Given the description of an element on the screen output the (x, y) to click on. 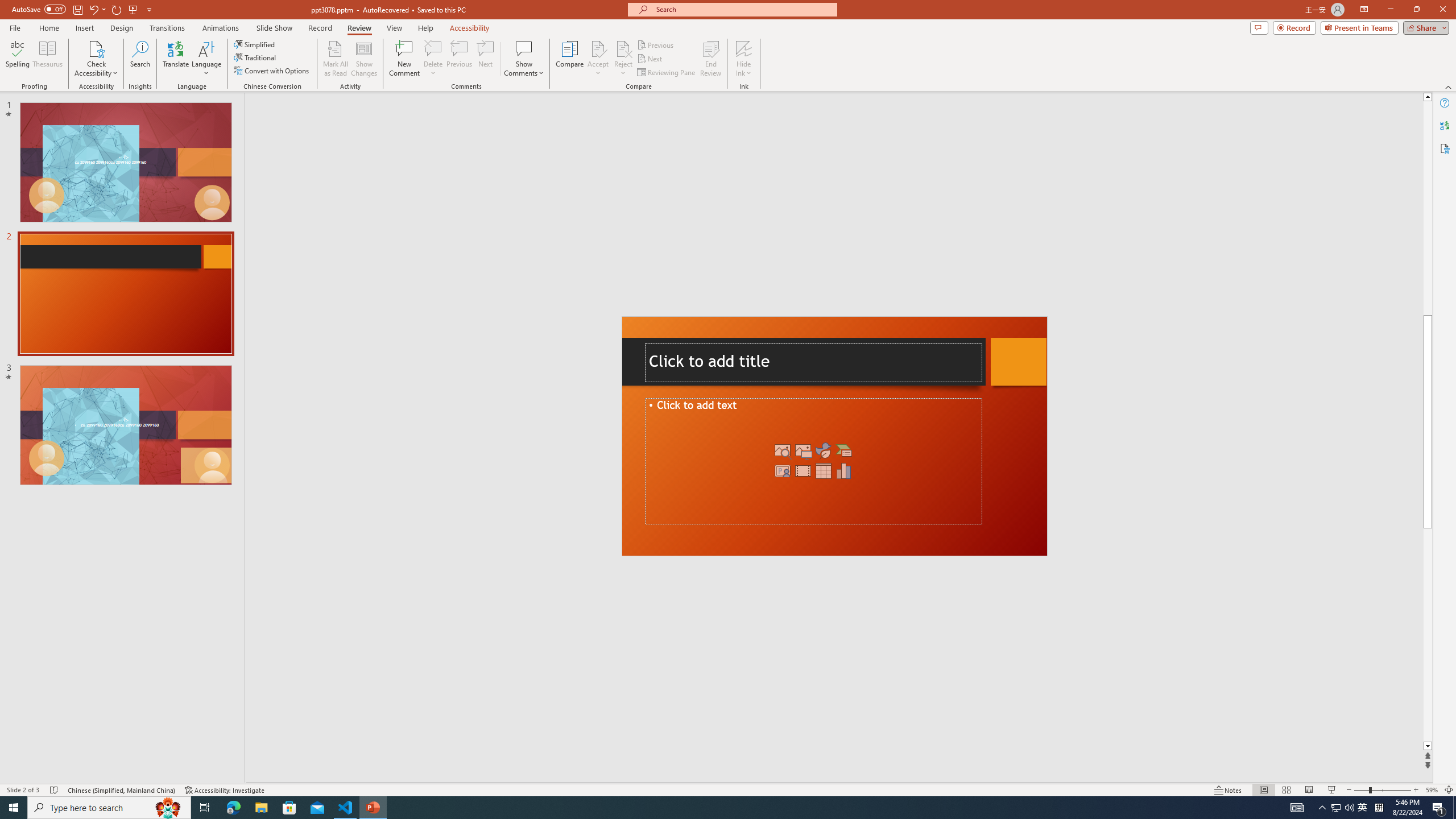
End Review (710, 58)
